Given the description of an element on the screen output the (x, y) to click on. 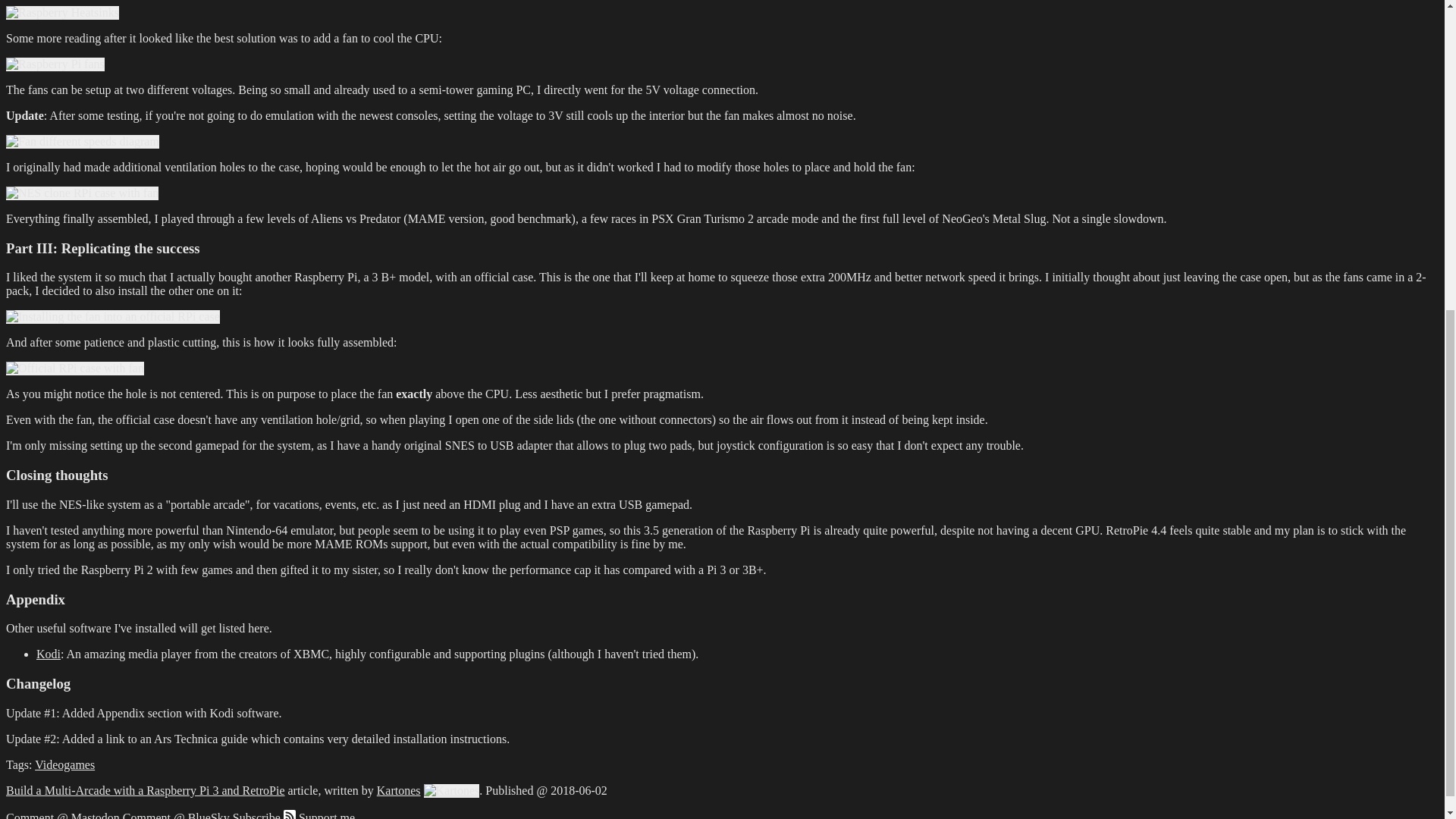
Kartones (398, 789)
Videogames (64, 764)
Build a Multi-Arcade with a Raspberry Pi 3 and RetroPie (144, 789)
Kodi (48, 653)
